Given the description of an element on the screen output the (x, y) to click on. 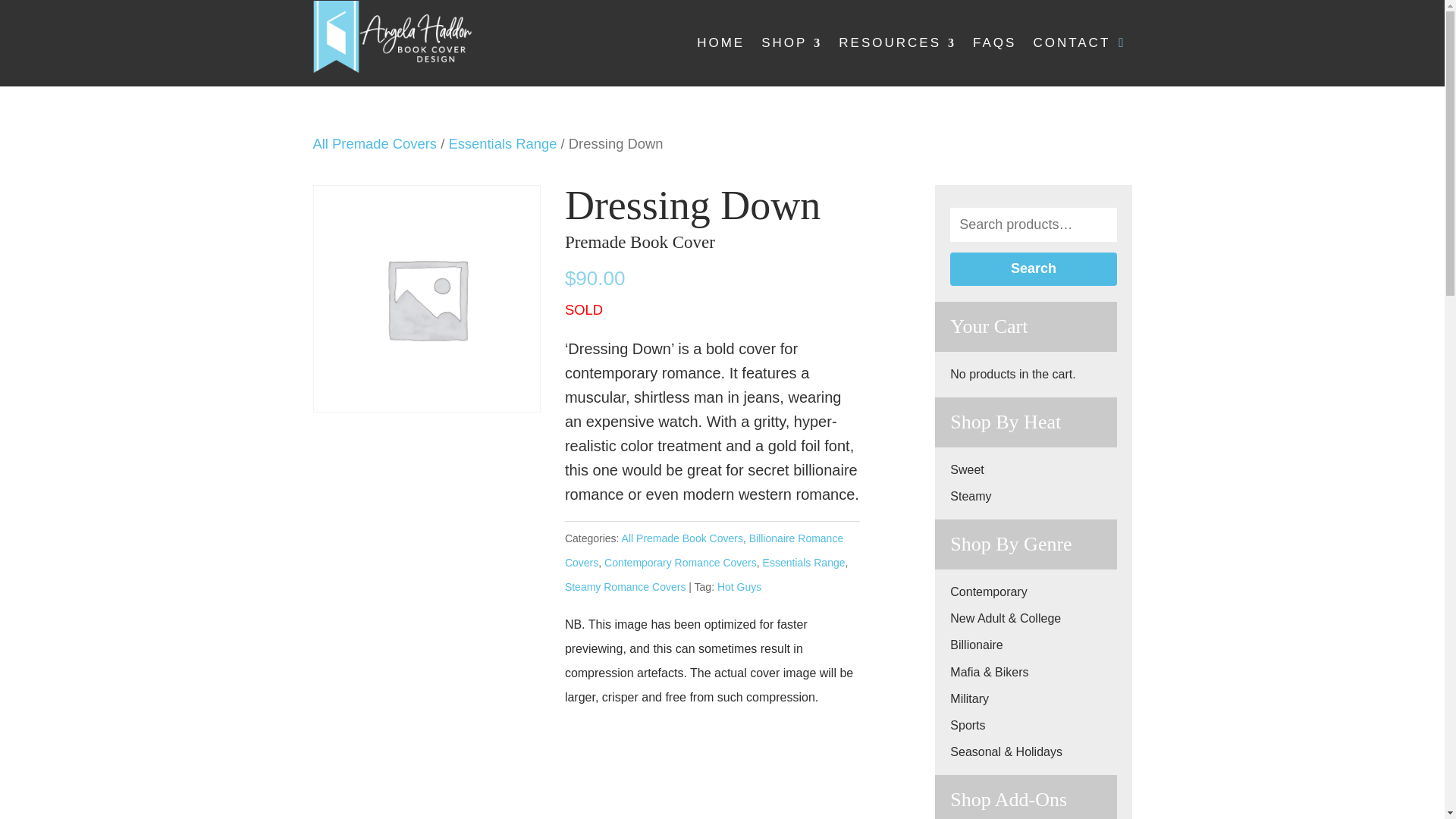
RESOURCES (897, 43)
All Premade Book Covers (681, 538)
Hot Guys (739, 586)
CONTACT (1070, 43)
Essentials Range (803, 562)
Contemporary Romance Covers (680, 562)
Steamy Romance Covers (624, 586)
All Premade Covers (374, 143)
Billionaire Romance Covers (703, 550)
Essentials Range (502, 143)
